Given the description of an element on the screen output the (x, y) to click on. 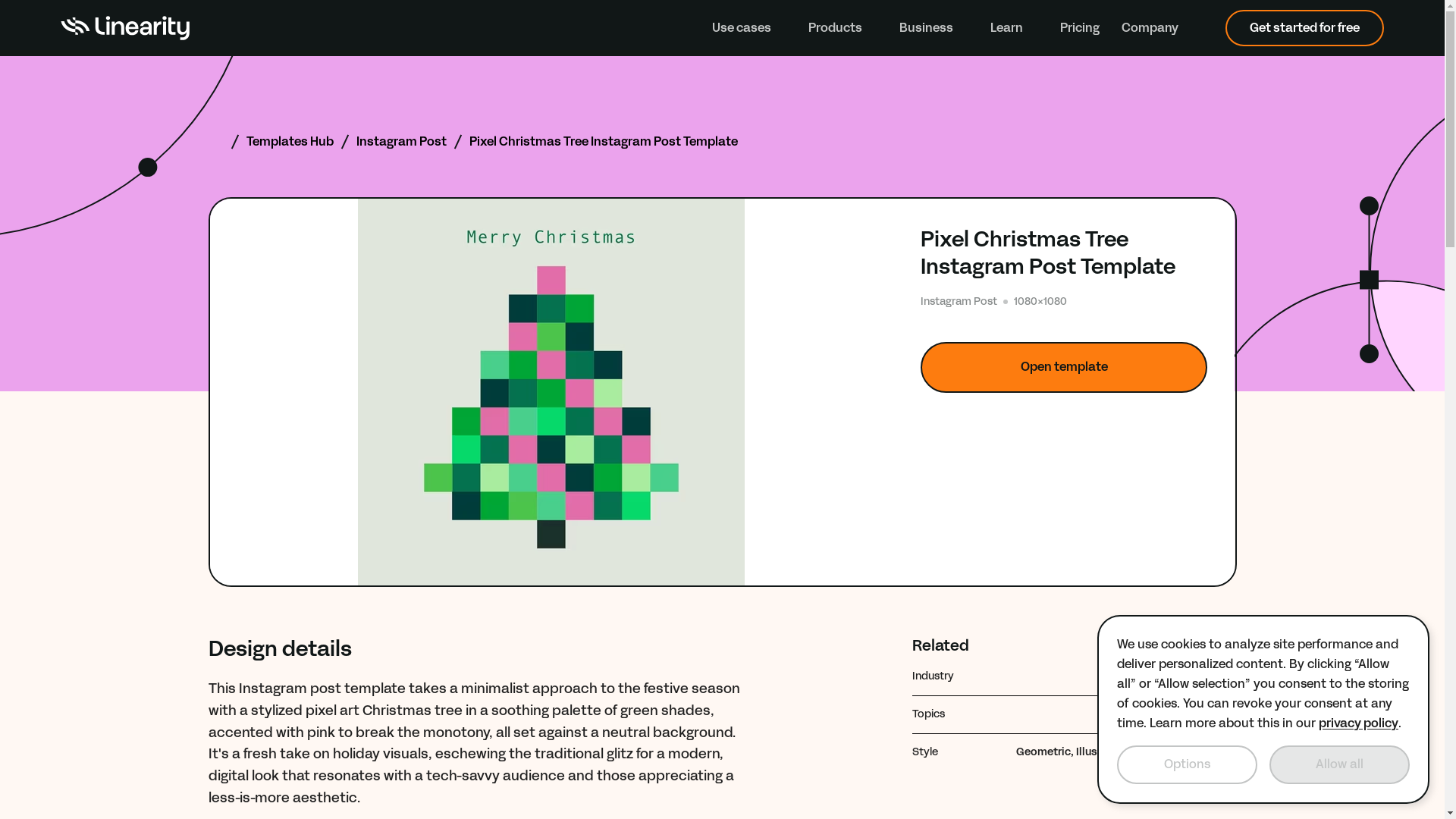
Learn (1014, 27)
Allow all (1339, 764)
Company (1157, 27)
Open template (1064, 367)
Products (842, 27)
privacy policy (1358, 723)
Instagram Post (401, 141)
Pricing (1079, 27)
Linearity Privacy Policy (1358, 723)
Use cases (748, 27)
